Given the description of an element on the screen output the (x, y) to click on. 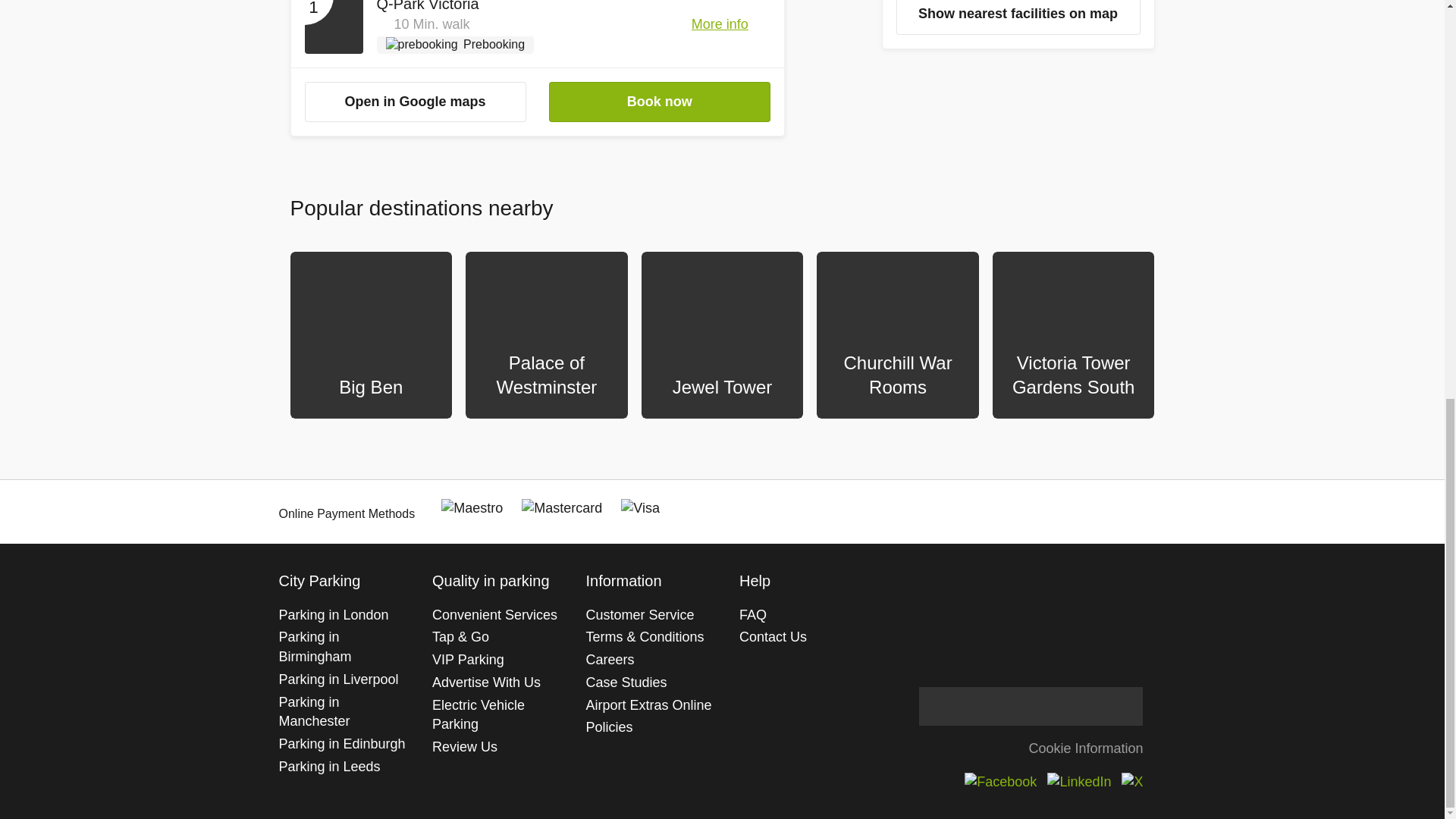
More info (730, 25)
Maestro (471, 508)
Show nearest facilities on map (1018, 17)
Mastercard (561, 508)
Book now (659, 101)
Open in Google maps (414, 101)
Visa (640, 508)
